Given the description of an element on the screen output the (x, y) to click on. 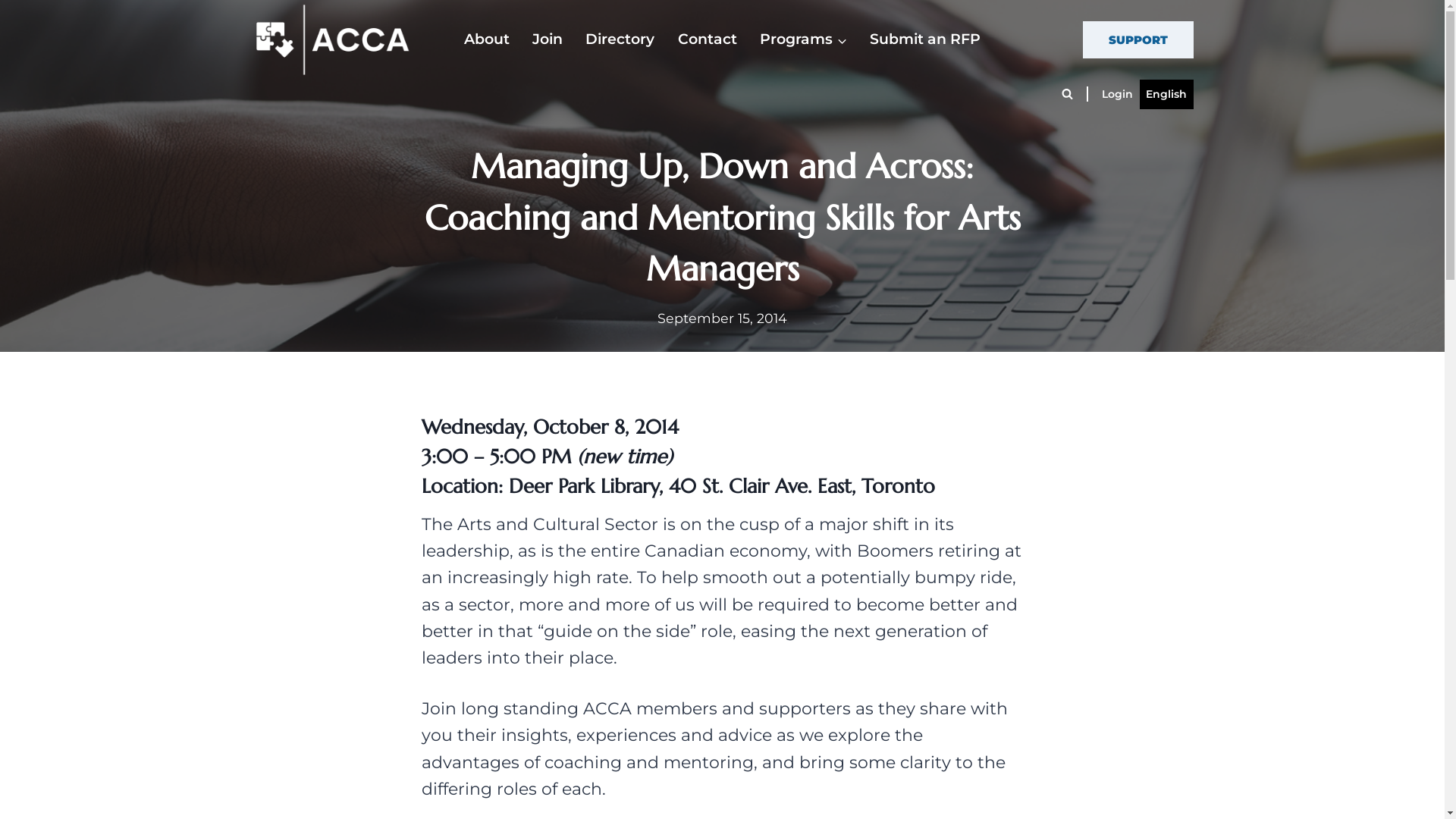
English Element type: text (1166, 94)
Contact Element type: text (706, 39)
Login Element type: text (1117, 94)
Directory Element type: text (619, 39)
Submit an RFP Element type: text (924, 39)
Join Element type: text (547, 39)
SUPPORT Element type: text (1137, 39)
Programs Element type: text (803, 39)
About Element type: text (485, 39)
